Given the description of an element on the screen output the (x, y) to click on. 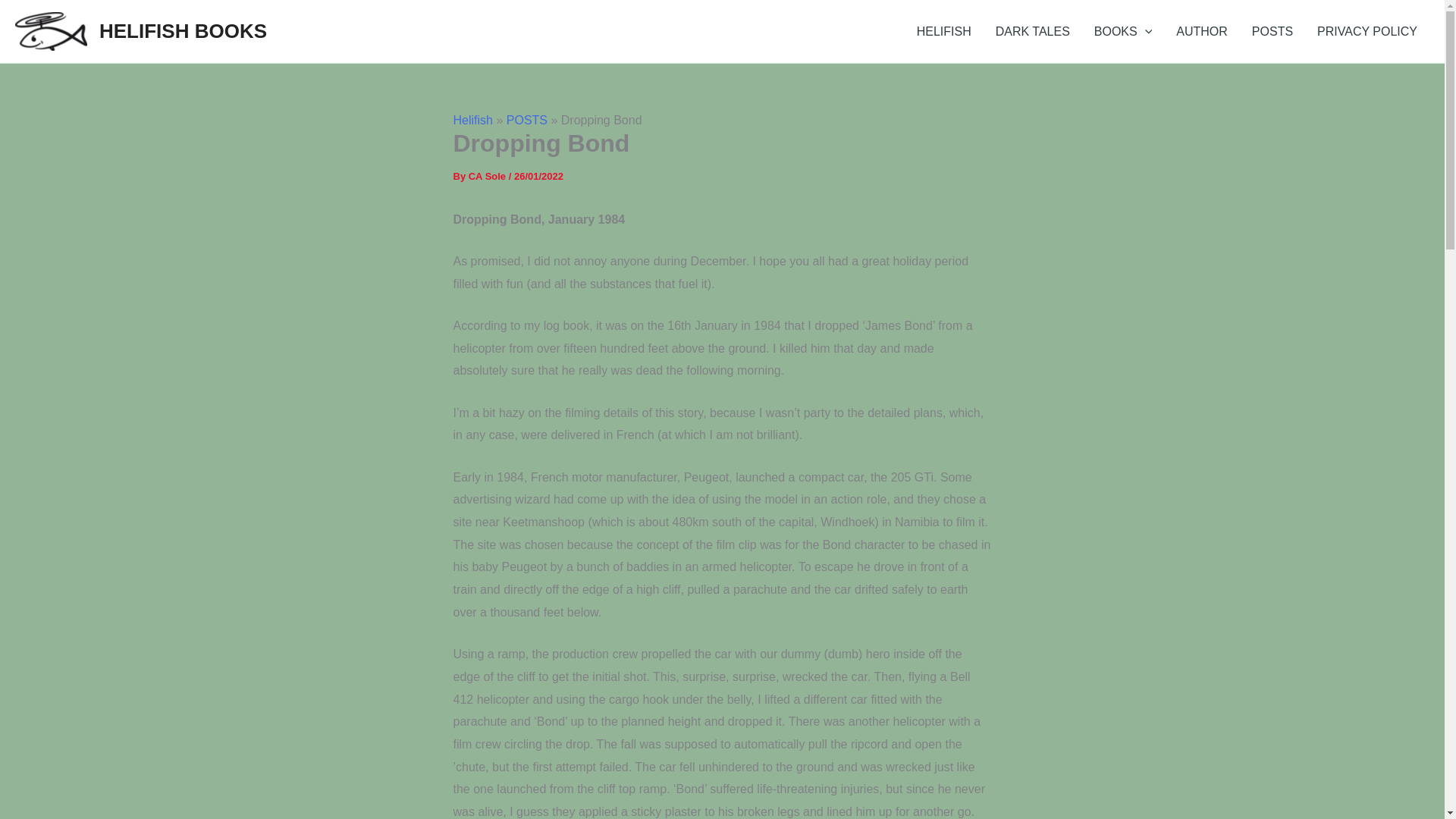
HELIFISH (944, 31)
View all posts by CA Sole (488, 175)
POSTS (1272, 31)
AUTHOR (1201, 31)
PRIVACY POLICY (1366, 31)
CA Sole (488, 175)
DARK TALES (1032, 31)
Helifish (472, 119)
POSTS (526, 119)
HELIFISH BOOKS (182, 30)
BOOKS (1122, 31)
